Given the description of an element on the screen output the (x, y) to click on. 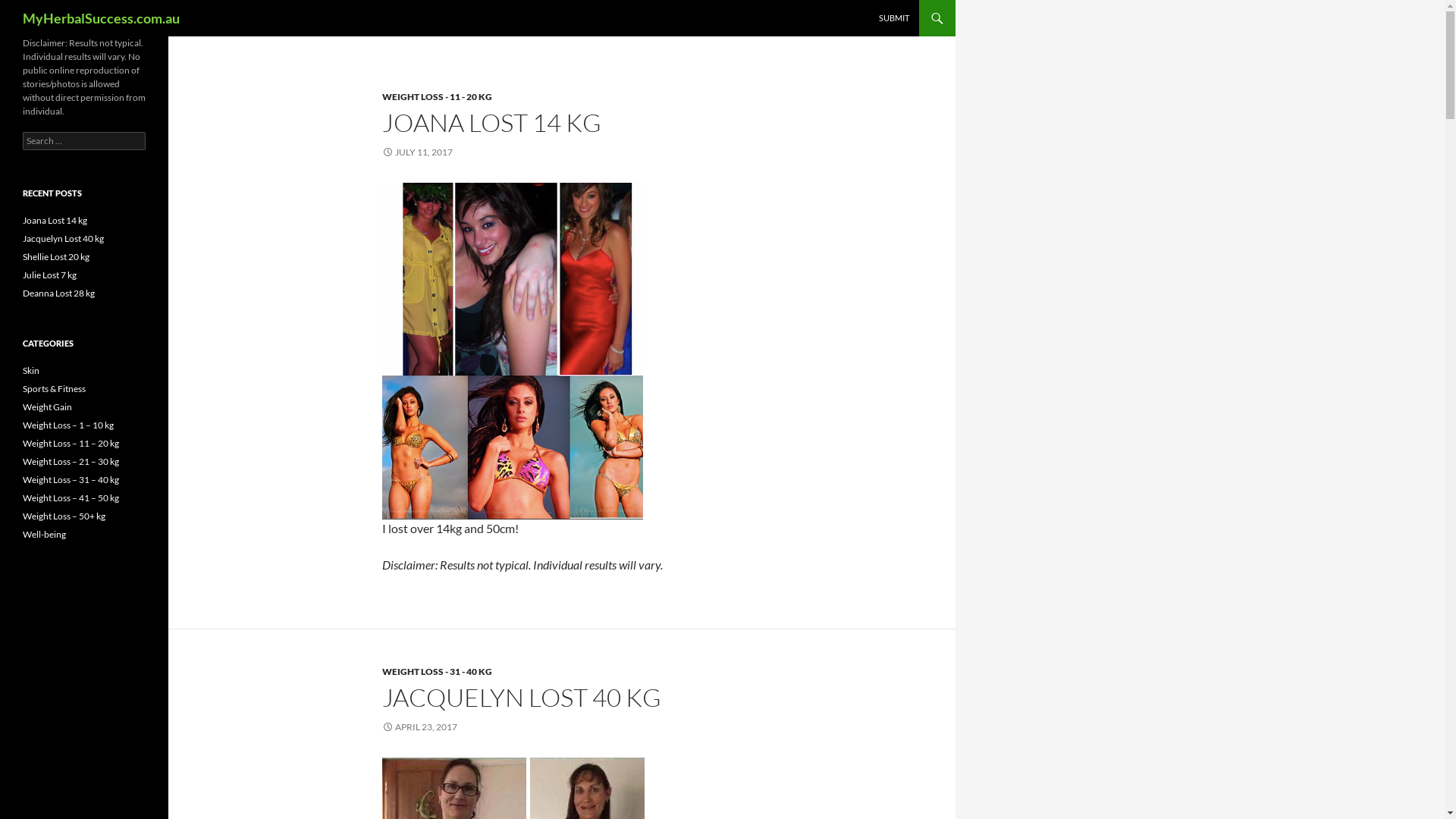
WEIGHT LOSS - 11 - 20 KG Element type: text (437, 96)
Sports & Fitness Element type: text (53, 388)
Search Element type: text (29, 9)
Well-being Element type: text (43, 533)
Skin Element type: text (30, 370)
APRIL 23, 2017 Element type: text (419, 726)
Deanna Lost 28 kg Element type: text (58, 292)
JULY 11, 2017 Element type: text (417, 151)
JOANA LOST 14 KG Element type: text (491, 122)
JACQUELYN LOST 40 KG Element type: text (521, 696)
Joana Lost 14 kg Element type: text (54, 219)
Julie Lost 7 kg Element type: text (49, 274)
Jacquelyn Lost 40 kg Element type: text (62, 238)
WEIGHT LOSS - 31 - 40 KG Element type: text (437, 671)
SUBMIT Element type: text (893, 18)
MyHerbalSuccess.com.au Element type: text (100, 18)
Shellie Lost 20 kg Element type: text (55, 256)
Weight Gain Element type: text (47, 406)
